Given the description of an element on the screen output the (x, y) to click on. 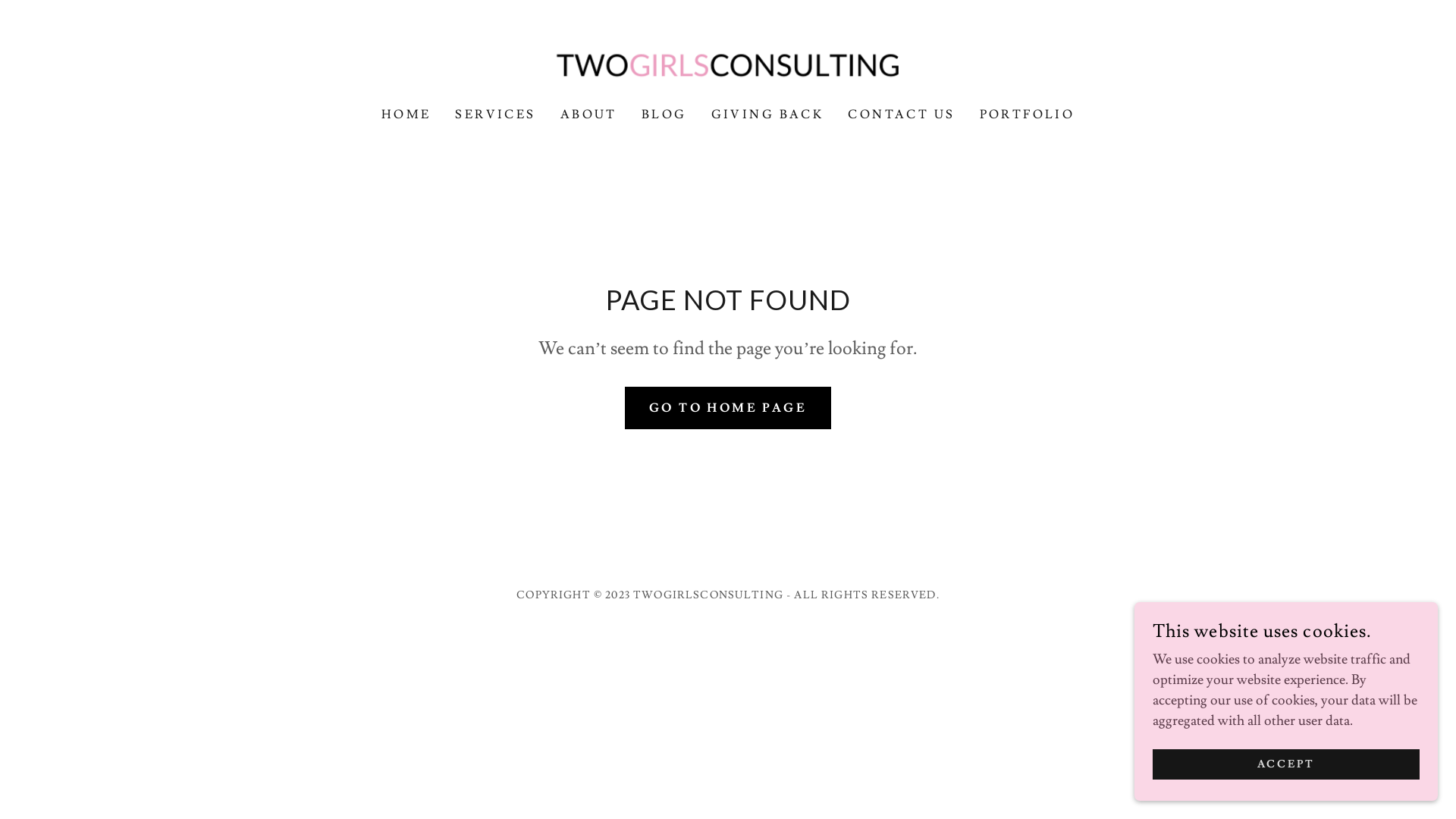
BLOG Element type: text (664, 114)
HOME Element type: text (406, 114)
PORTFOLIO Element type: text (1027, 114)
SERVICES Element type: text (494, 114)
ACCEPT Element type: text (1285, 764)
GIVING BACK Element type: text (767, 114)
GO TO HOME PAGE Element type: text (727, 407)
ABOUT Element type: text (588, 114)
It's time to Attract Attention Element type: hover (728, 61)
CONTACT US Element type: text (901, 114)
